Given the description of an element on the screen output the (x, y) to click on. 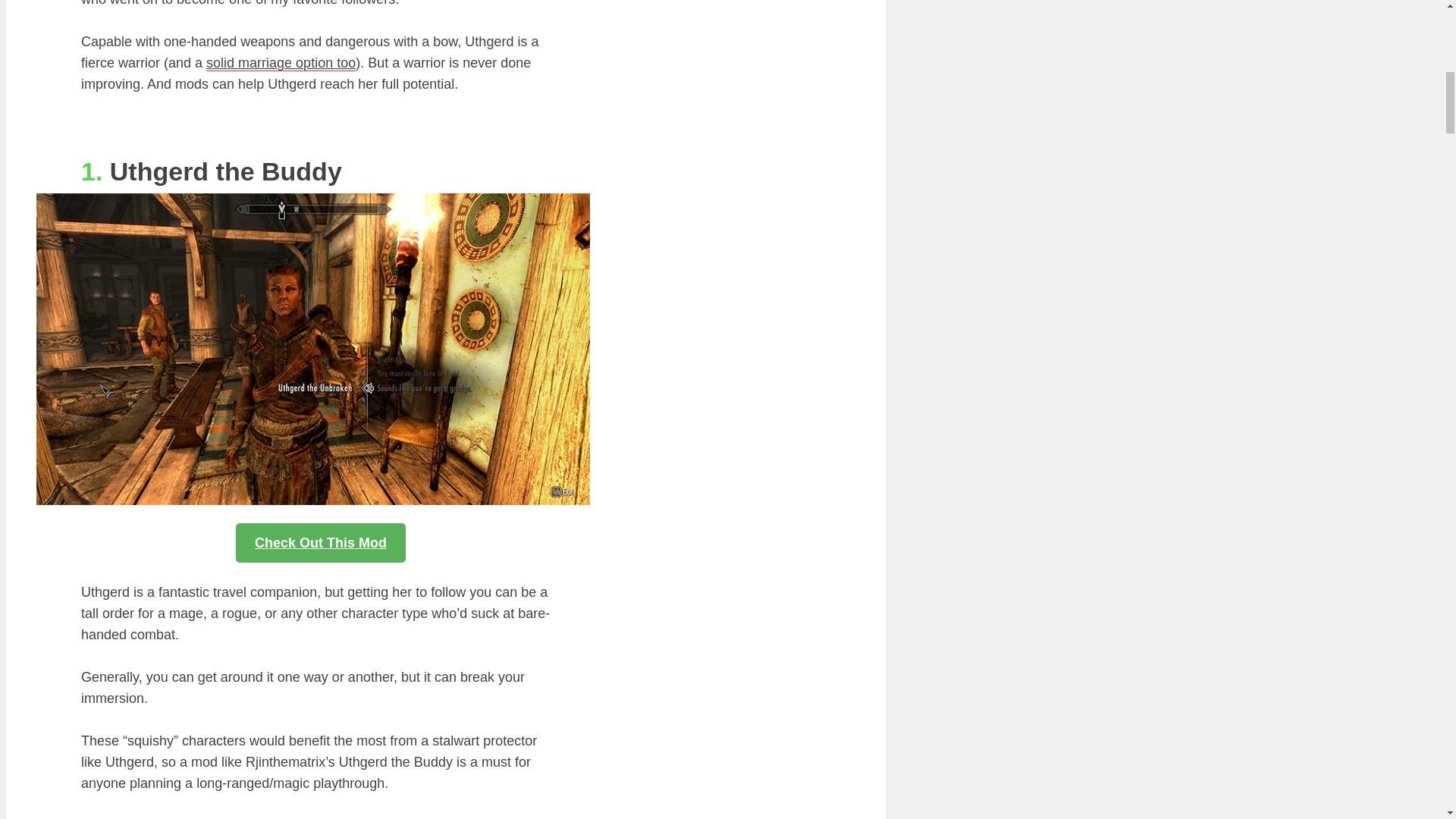
solid marriage option too (280, 63)
Check Out This Mod (320, 542)
